Given the description of an element on the screen output the (x, y) to click on. 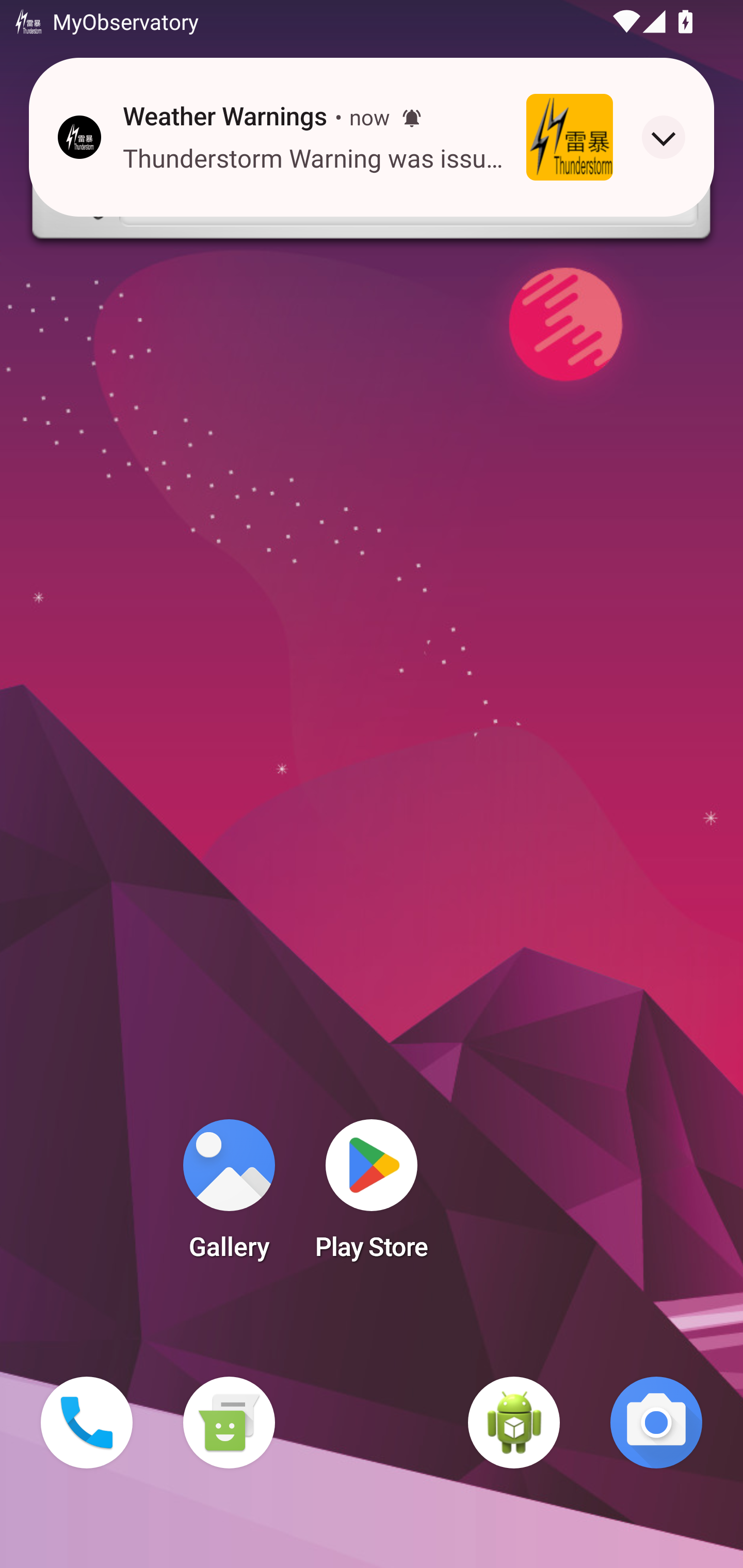
Gallery (228, 1195)
Play Store (371, 1195)
Phone (86, 1422)
Messaging (228, 1422)
WebView Browser Tester (513, 1422)
Camera (656, 1422)
